Given the description of an element on the screen output the (x, y) to click on. 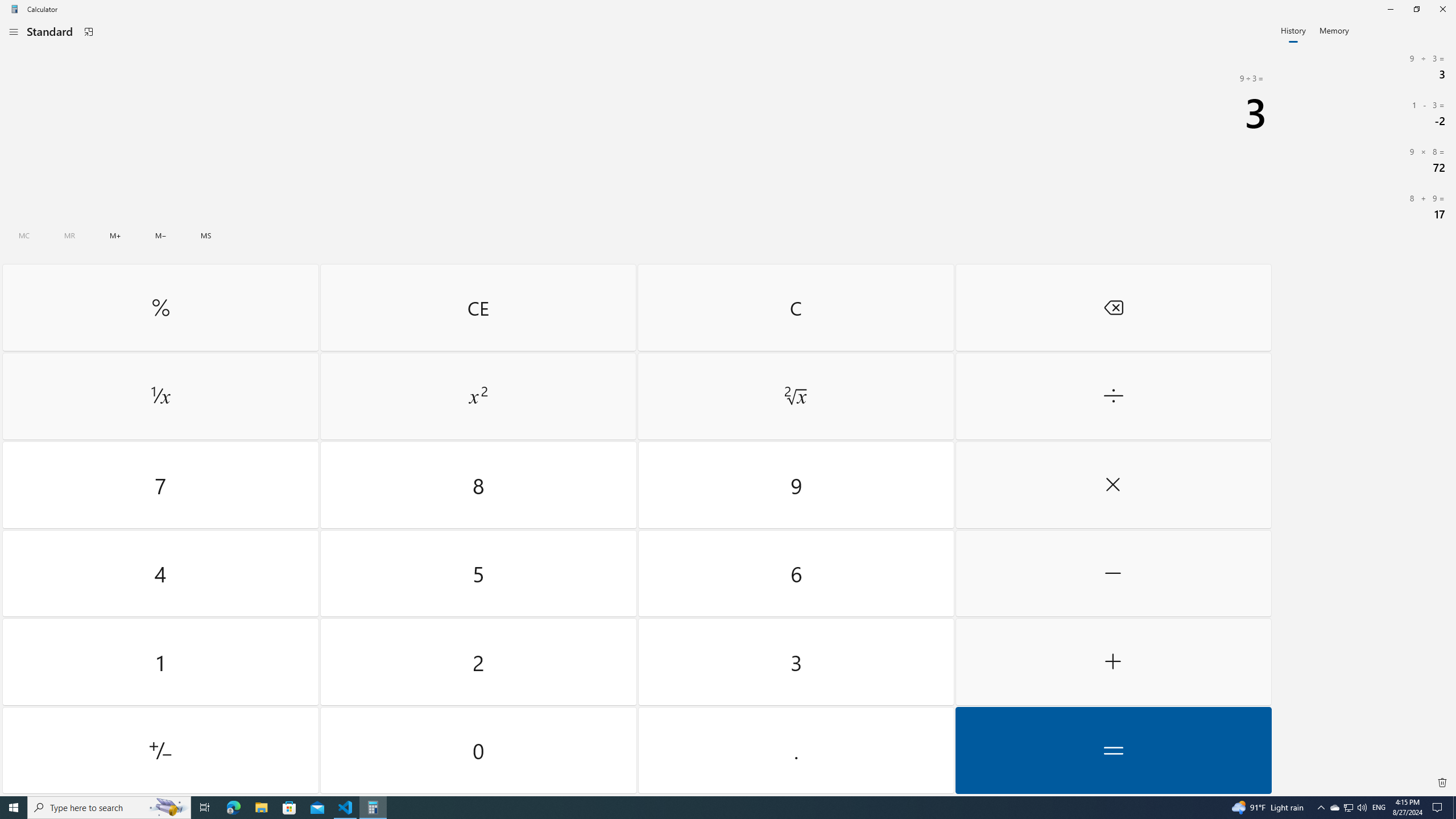
Minus (1113, 572)
Restore Calculator (1416, 9)
Three (795, 661)
Seven (160, 485)
Reciprocal (160, 396)
Close Calculator (1442, 9)
One (160, 661)
Clear all history (1441, 782)
